Given the description of an element on the screen output the (x, y) to click on. 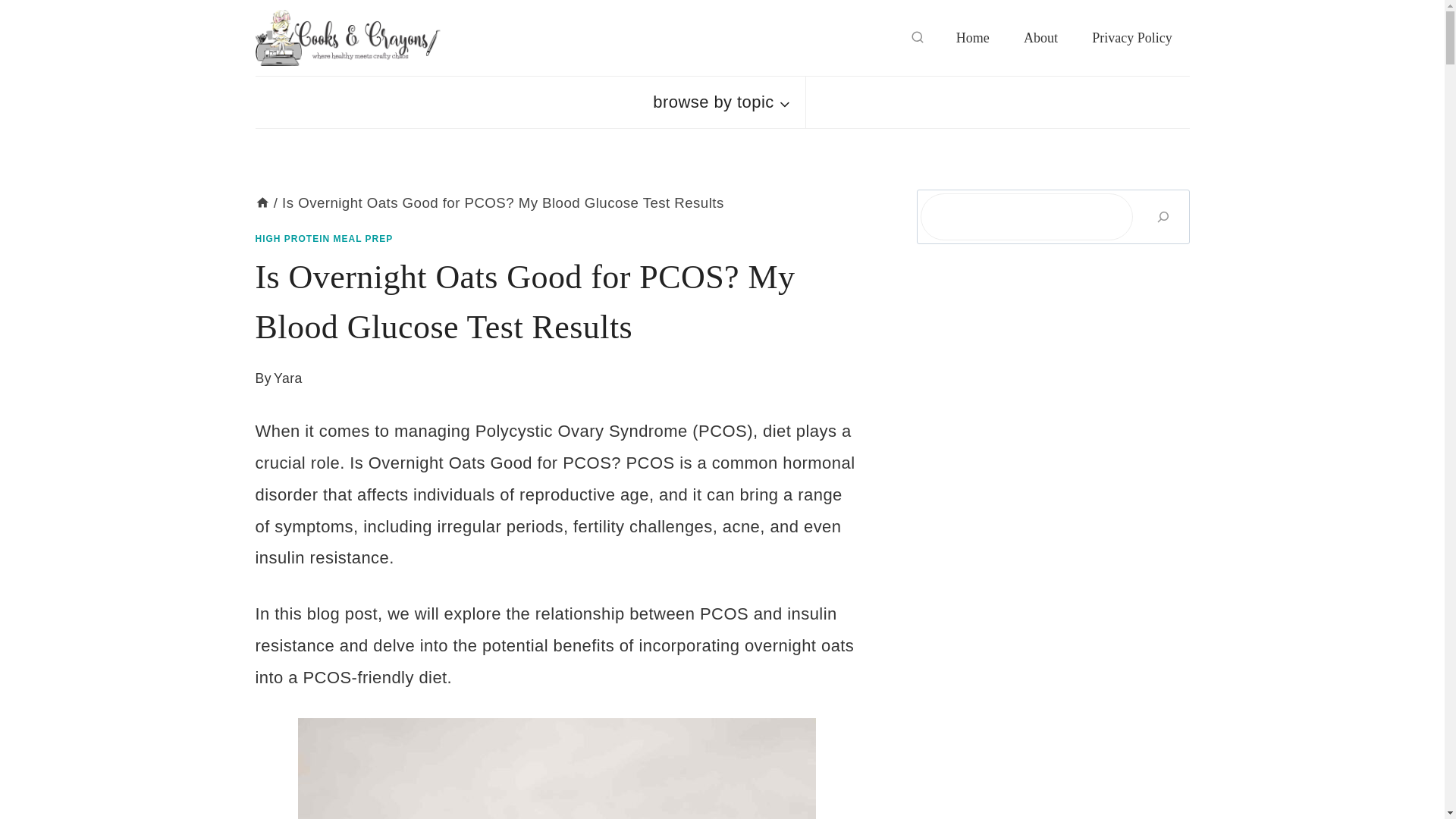
Privacy Policy (1132, 38)
Home (972, 38)
Yara (287, 378)
browse by topic (722, 101)
About (1040, 38)
Home (261, 202)
HIGH PROTEIN MEAL PREP (323, 238)
